Given the description of an element on the screen output the (x, y) to click on. 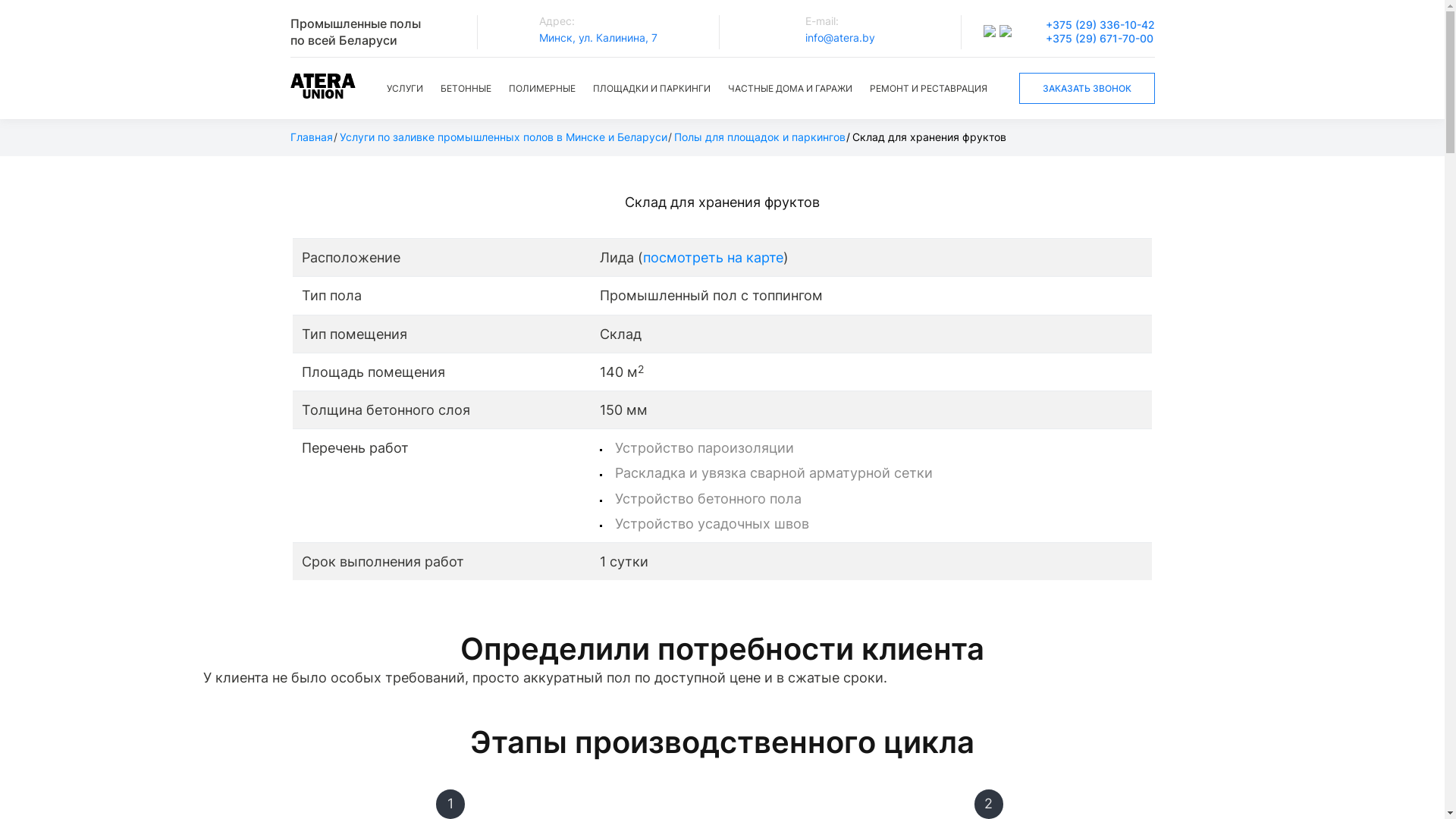
info@atera.by Element type: text (840, 37)
+375 (29) 336-10-42 Element type: text (1099, 24)
+375 (29) 671-70-00 Element type: text (1099, 38)
